Given the description of an element on the screen output the (x, y) to click on. 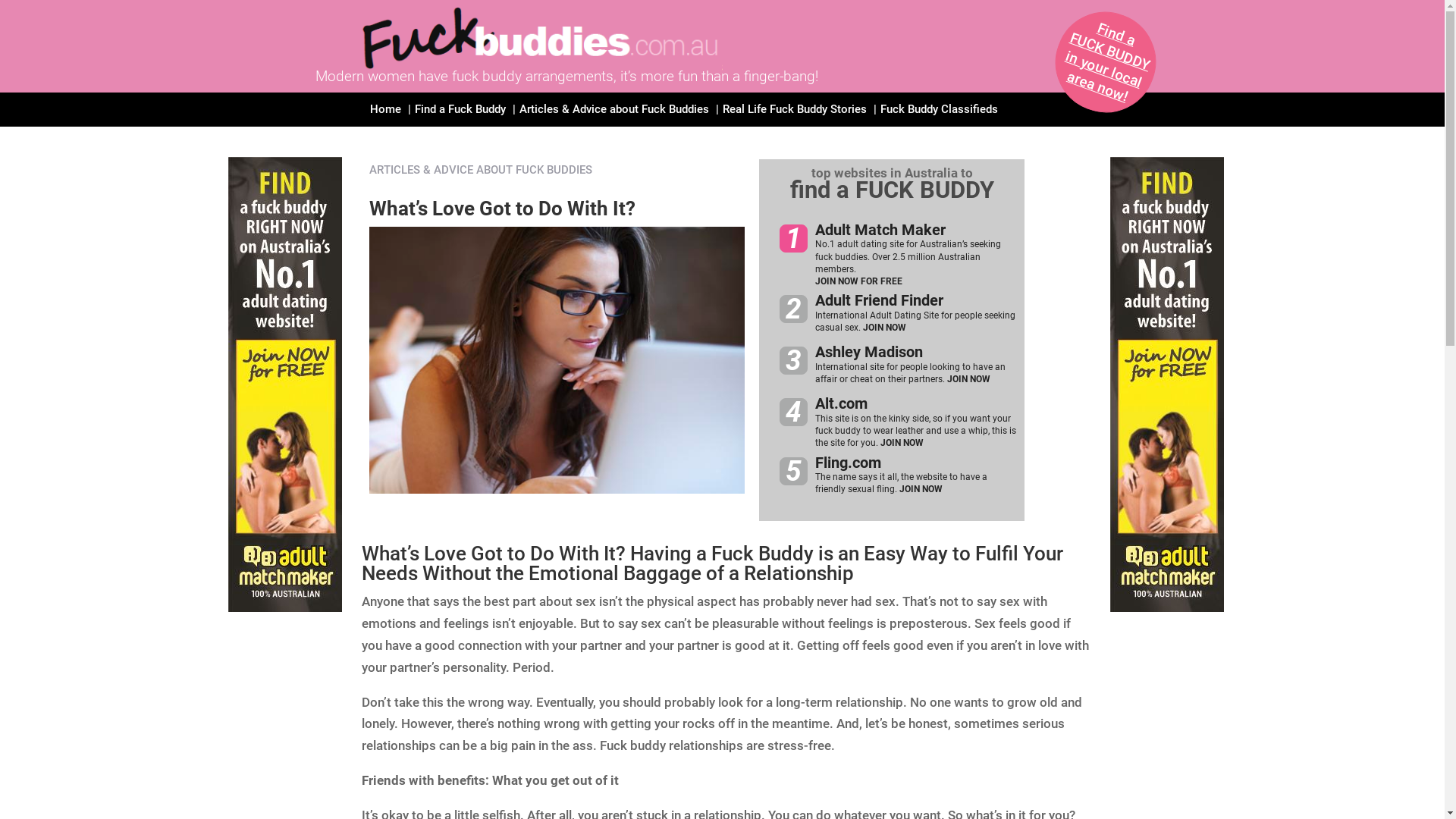
Find a
FUCK BUDDY
in your local
area now! Element type: text (1096, 47)
Articles & Advice about Fuck Buddies Element type: text (613, 120)
Home Element type: text (385, 120)
Fuck Buddy Classifieds Element type: text (938, 120)
Find a Fuck Buddy Element type: text (459, 120)
Real Life Fuck Buddy Stories Element type: text (793, 120)
